Given the description of an element on the screen output the (x, y) to click on. 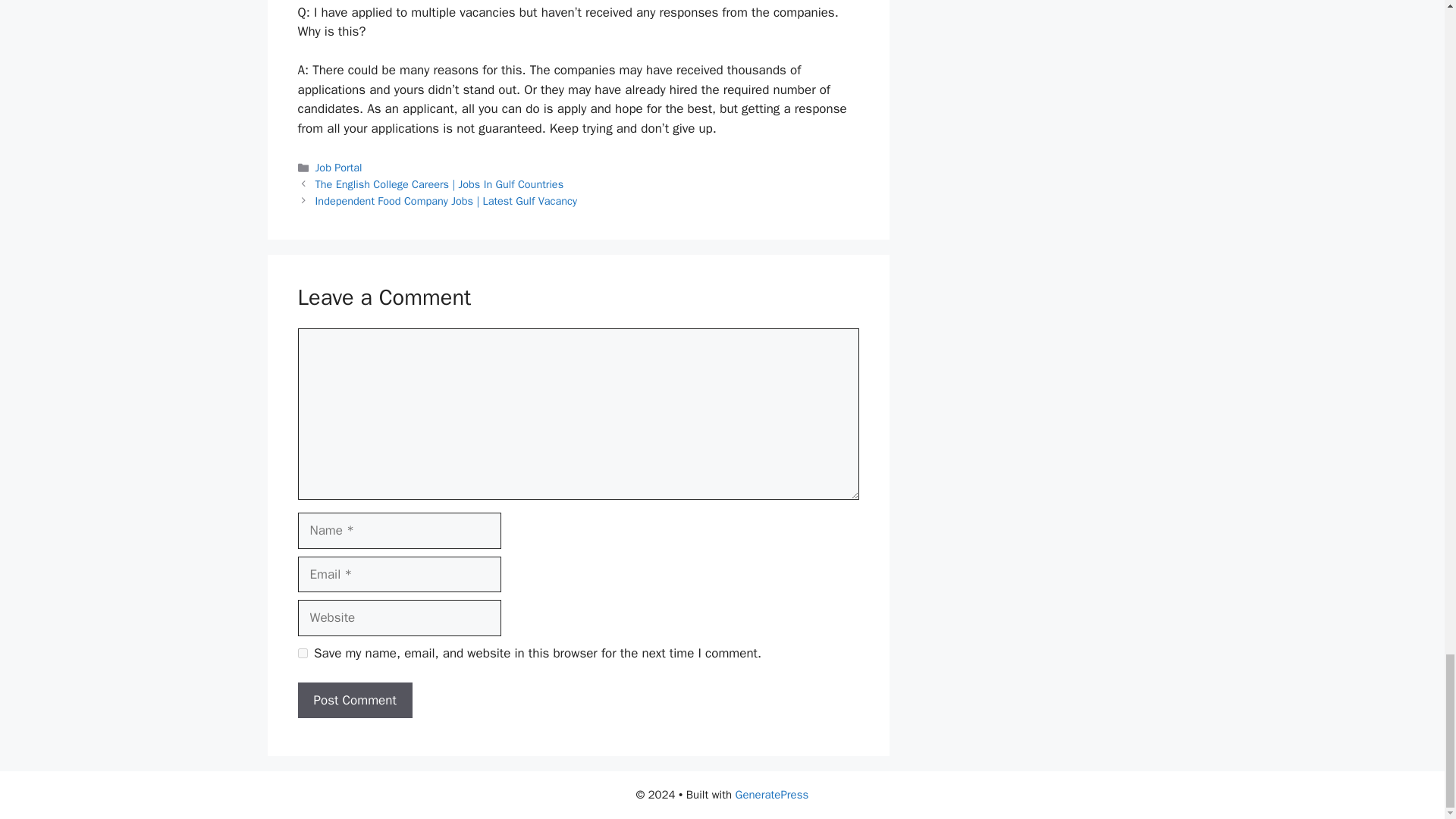
Post Comment (354, 700)
Post Comment (354, 700)
Job Portal (338, 167)
yes (302, 653)
GeneratePress (772, 794)
